Given the description of an element on the screen output the (x, y) to click on. 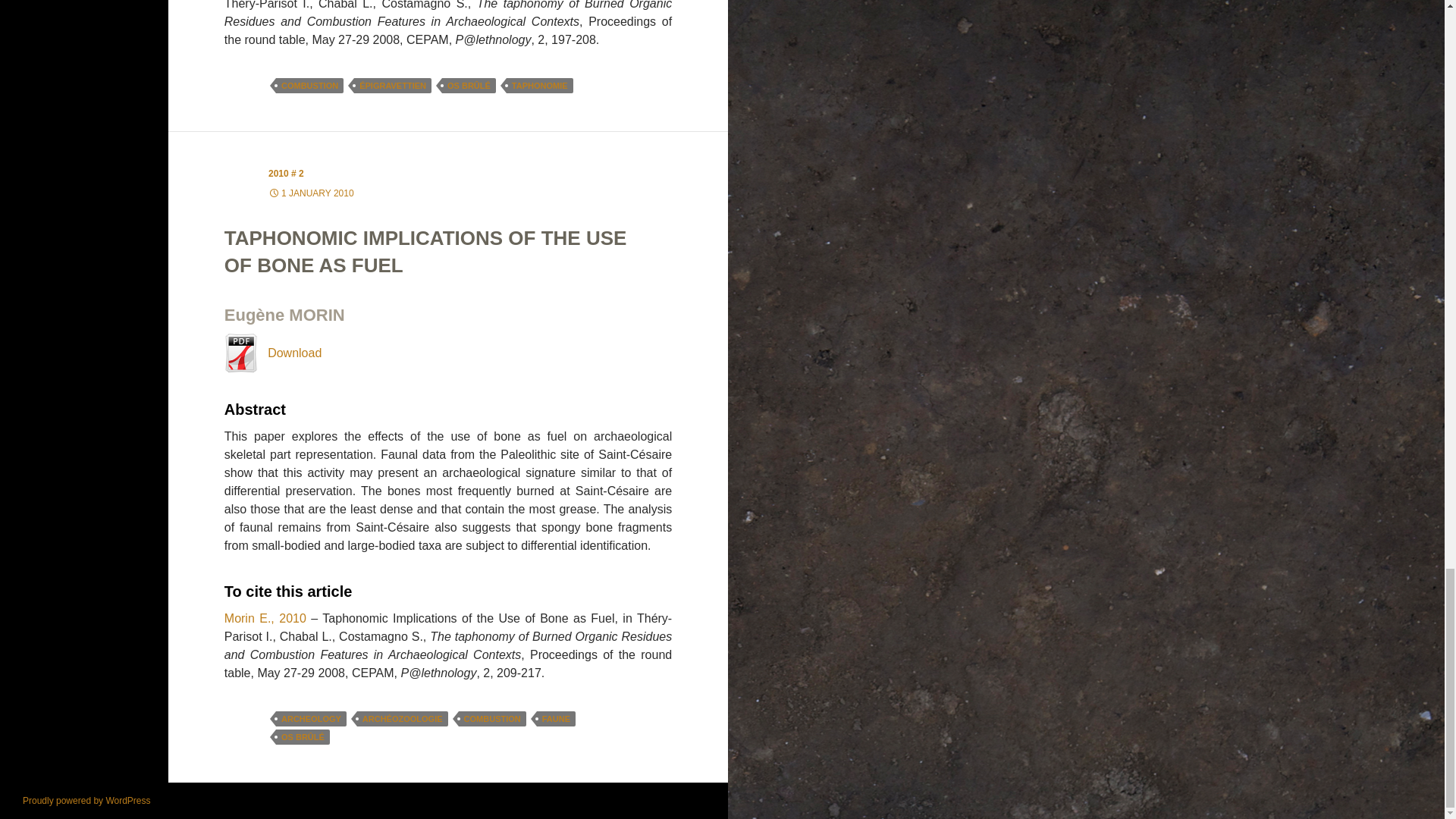
   Download (272, 352)
COMBUSTION (491, 718)
ARCHEOLOGY (311, 718)
TAPHONOMIE (539, 85)
FAUNE (556, 718)
COMBUSTION (309, 85)
1 JANUARY 2010 (310, 193)
